Given the description of an element on the screen output the (x, y) to click on. 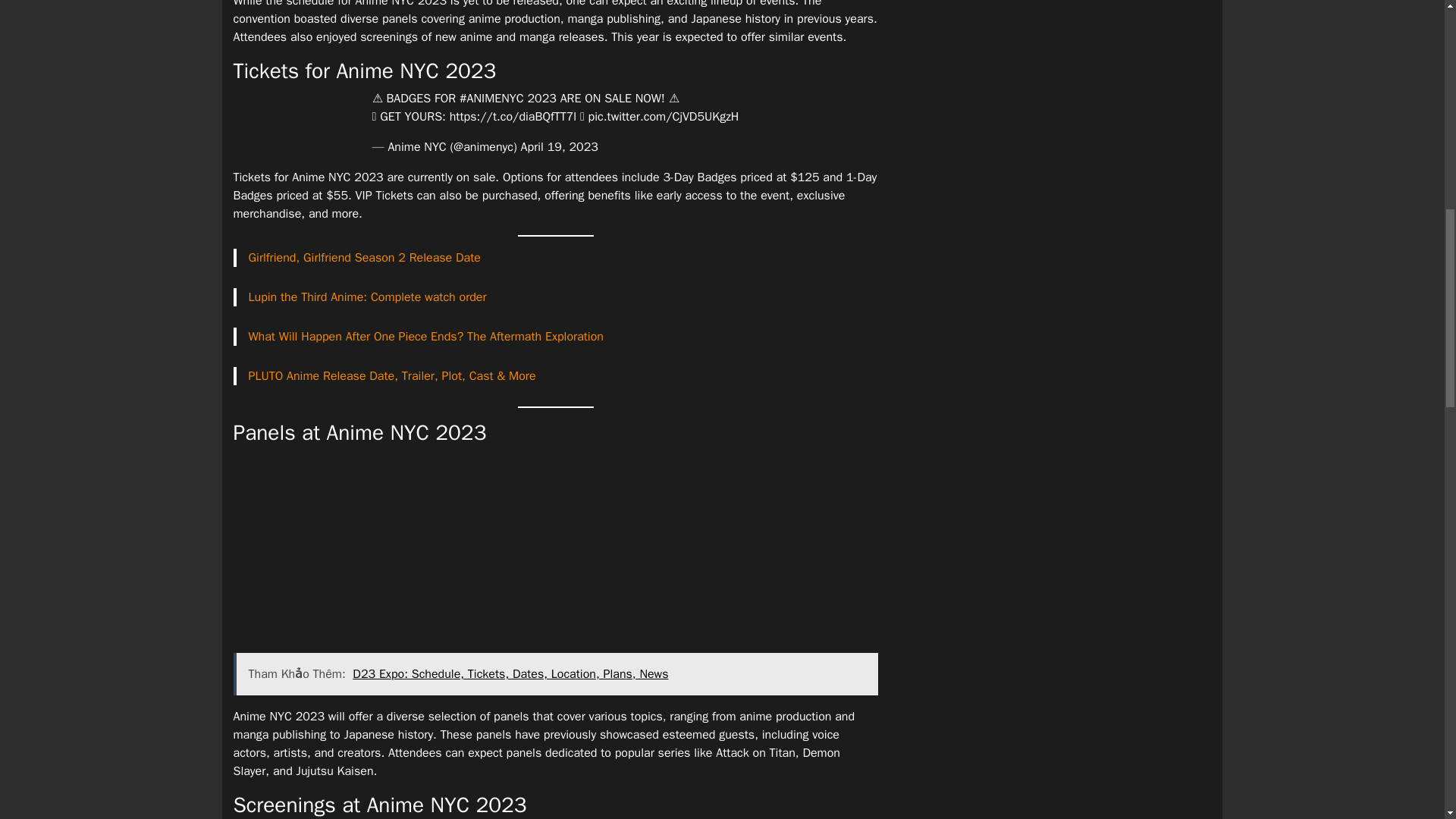
Girlfriend, Girlfriend Season 2 Release Date (364, 257)
Lupin the Third Anime: Complete watch order (367, 296)
